Given the description of an element on the screen output the (x, y) to click on. 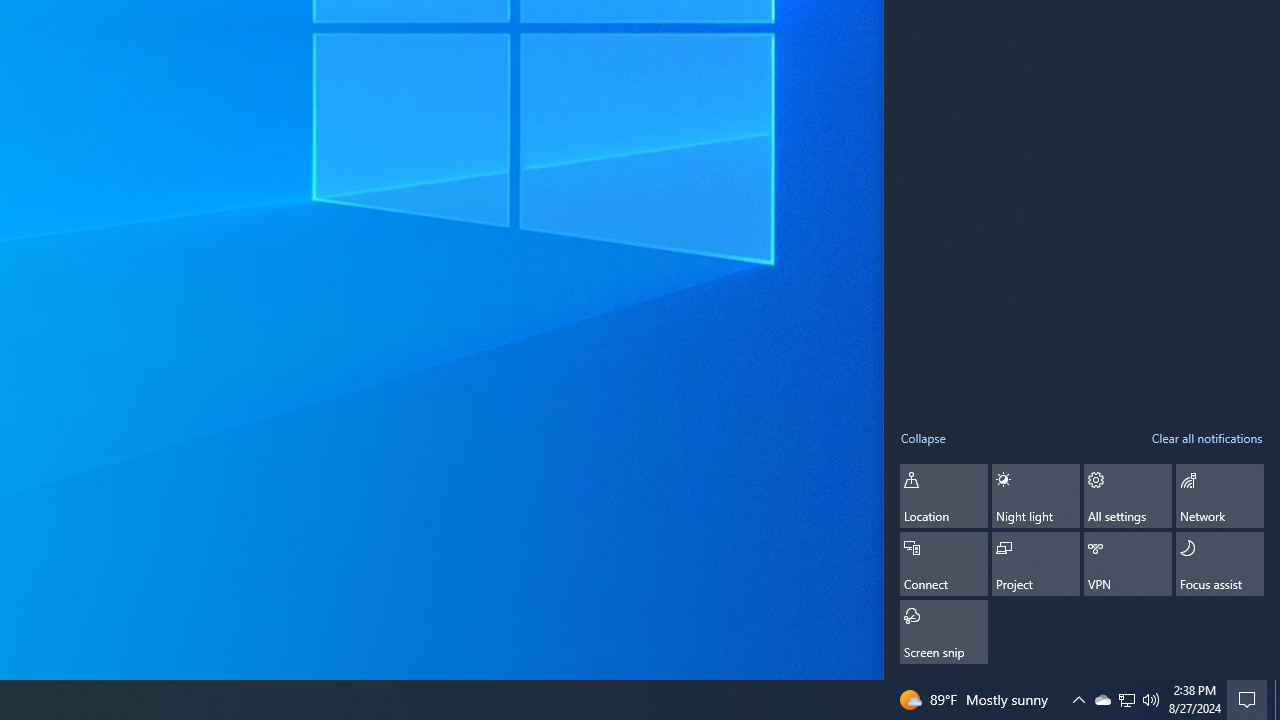
Show desktop (1277, 699)
Location (943, 495)
Night light (1036, 495)
Network (1220, 495)
